Given the description of an element on the screen output the (x, y) to click on. 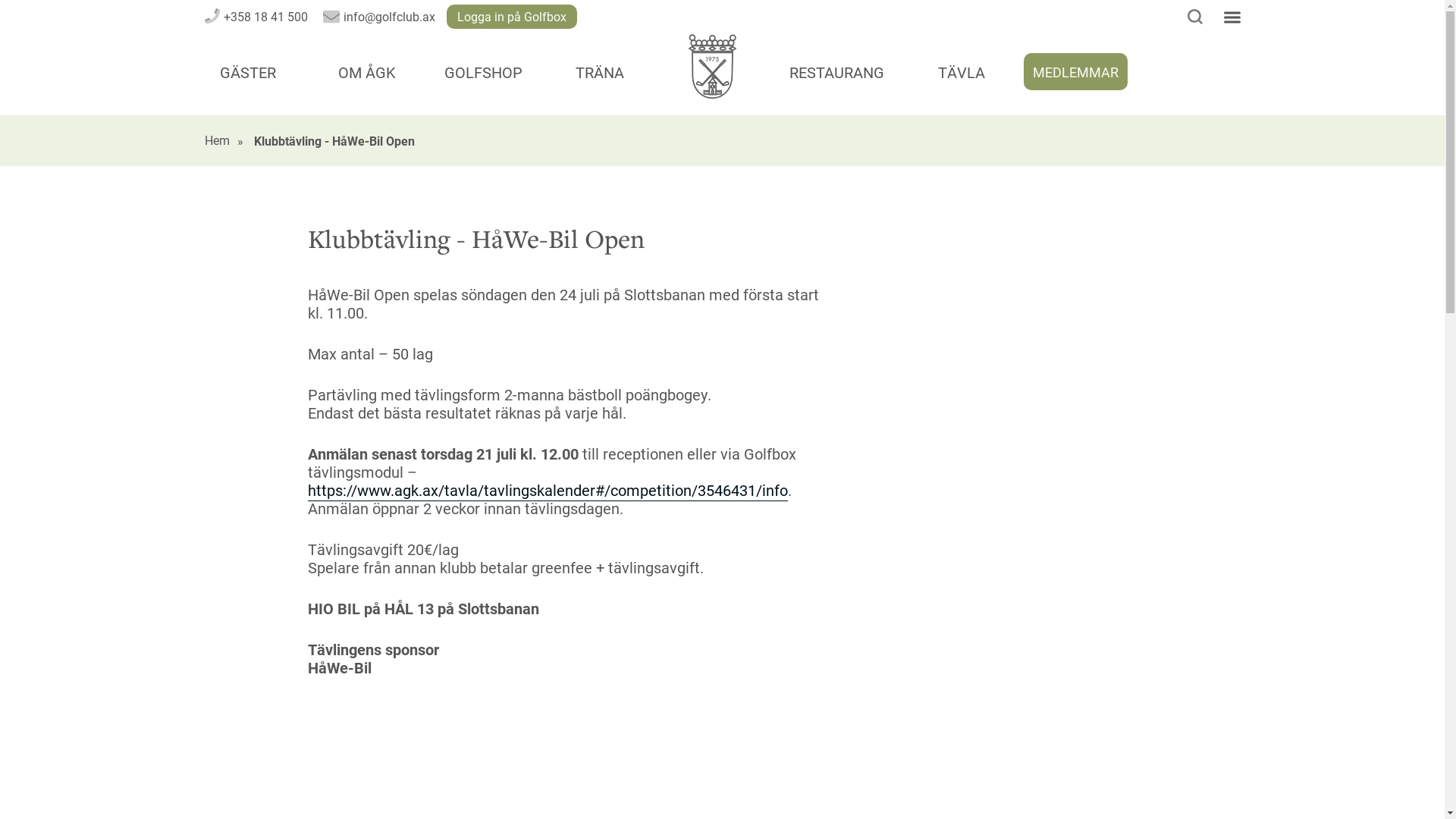
MEDLEMMAR Element type: text (1075, 71)
GOLFSHOP Element type: text (483, 70)
RESTAURANG Element type: text (836, 70)
Hem Element type: text (216, 140)
